Given the description of an element on the screen output the (x, y) to click on. 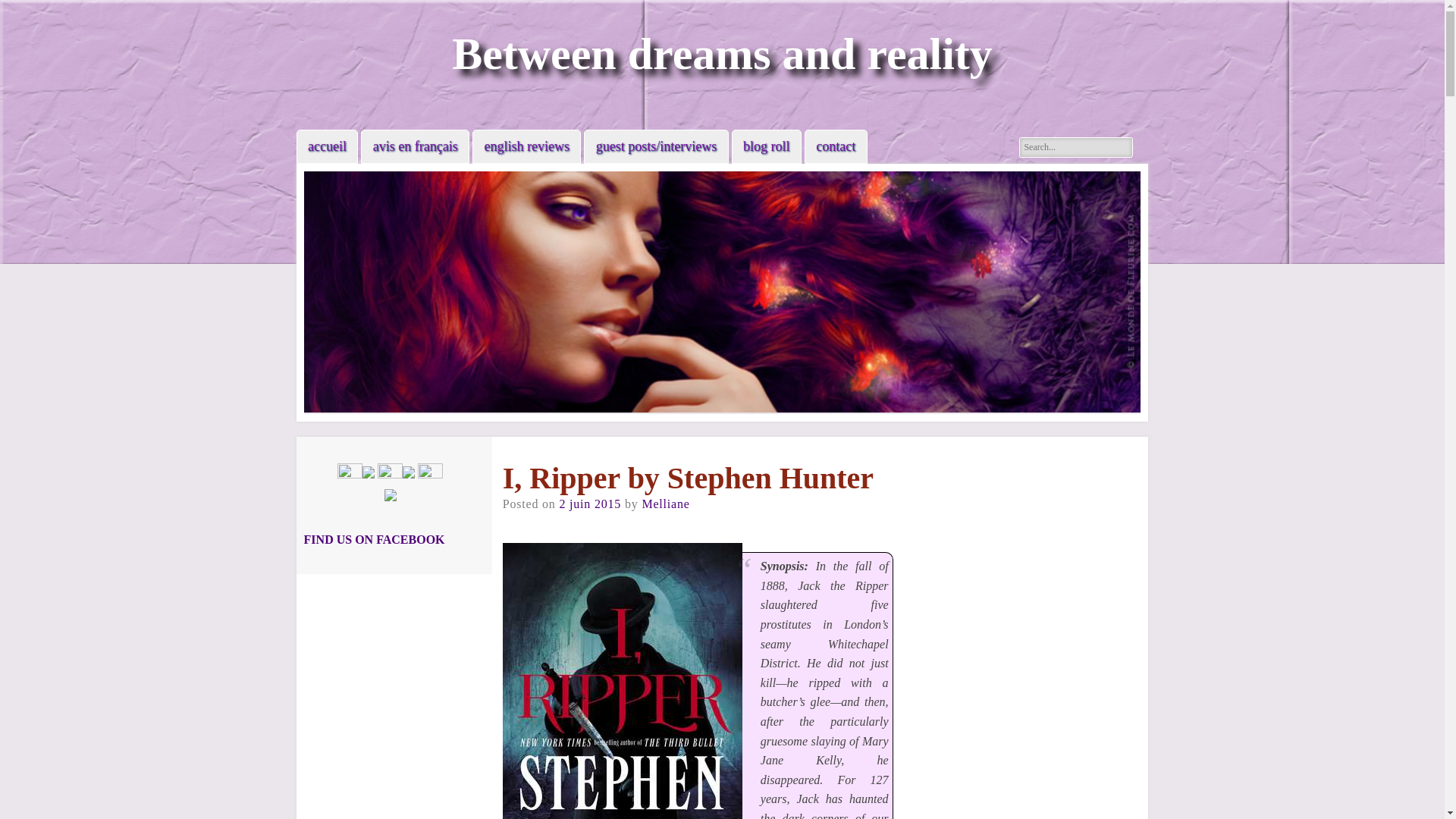
View all posts by Melliane (665, 503)
6 h 56 min (590, 503)
contact (835, 146)
blog roll (766, 146)
Search (24, 9)
Melliane (665, 503)
2 juin 2015 (590, 503)
accueil (327, 146)
Between dreams and reality (721, 53)
english reviews (526, 146)
